Given the description of an element on the screen output the (x, y) to click on. 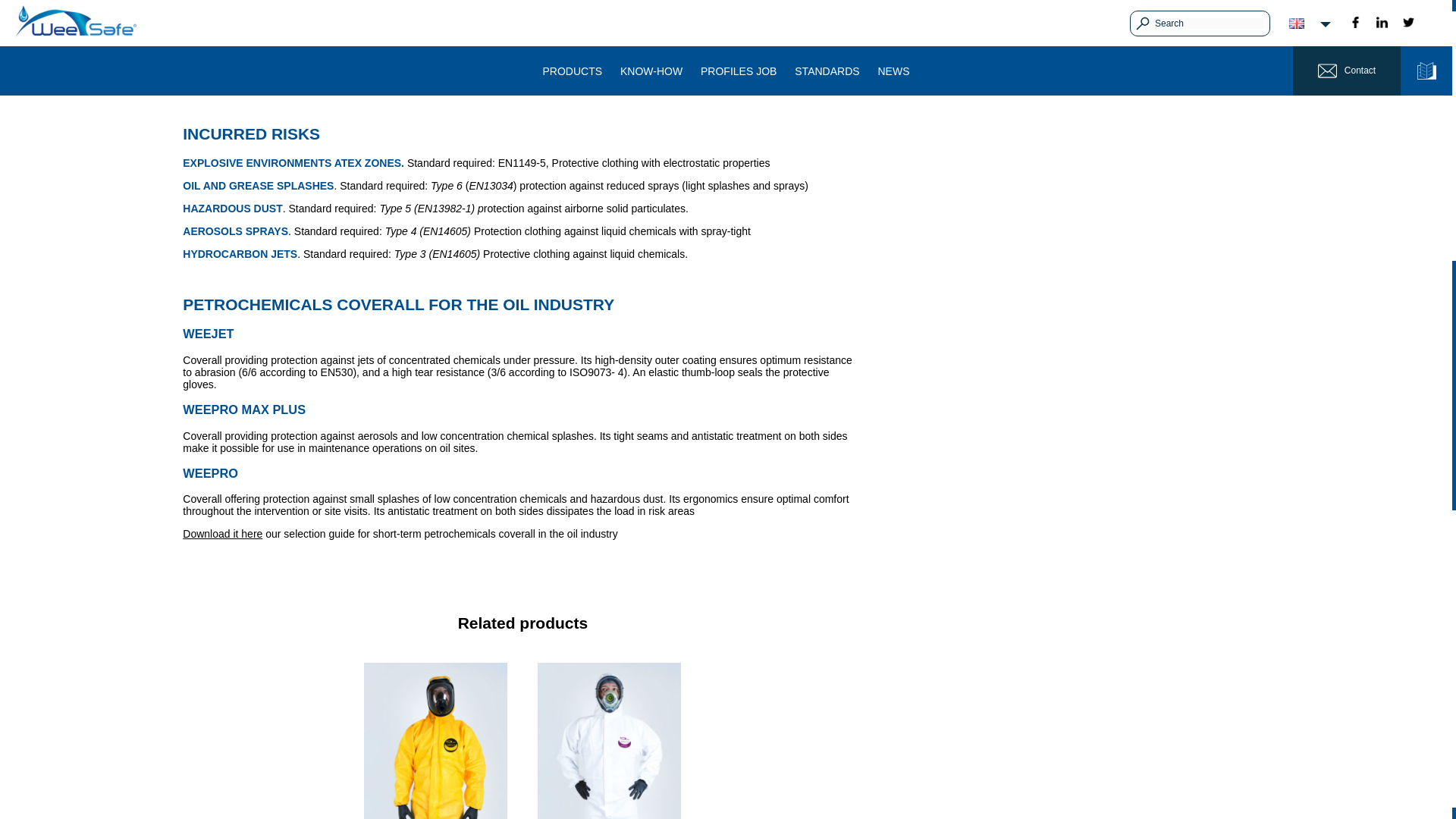
Download it here (222, 533)
